Given the description of an element on the screen output the (x, y) to click on. 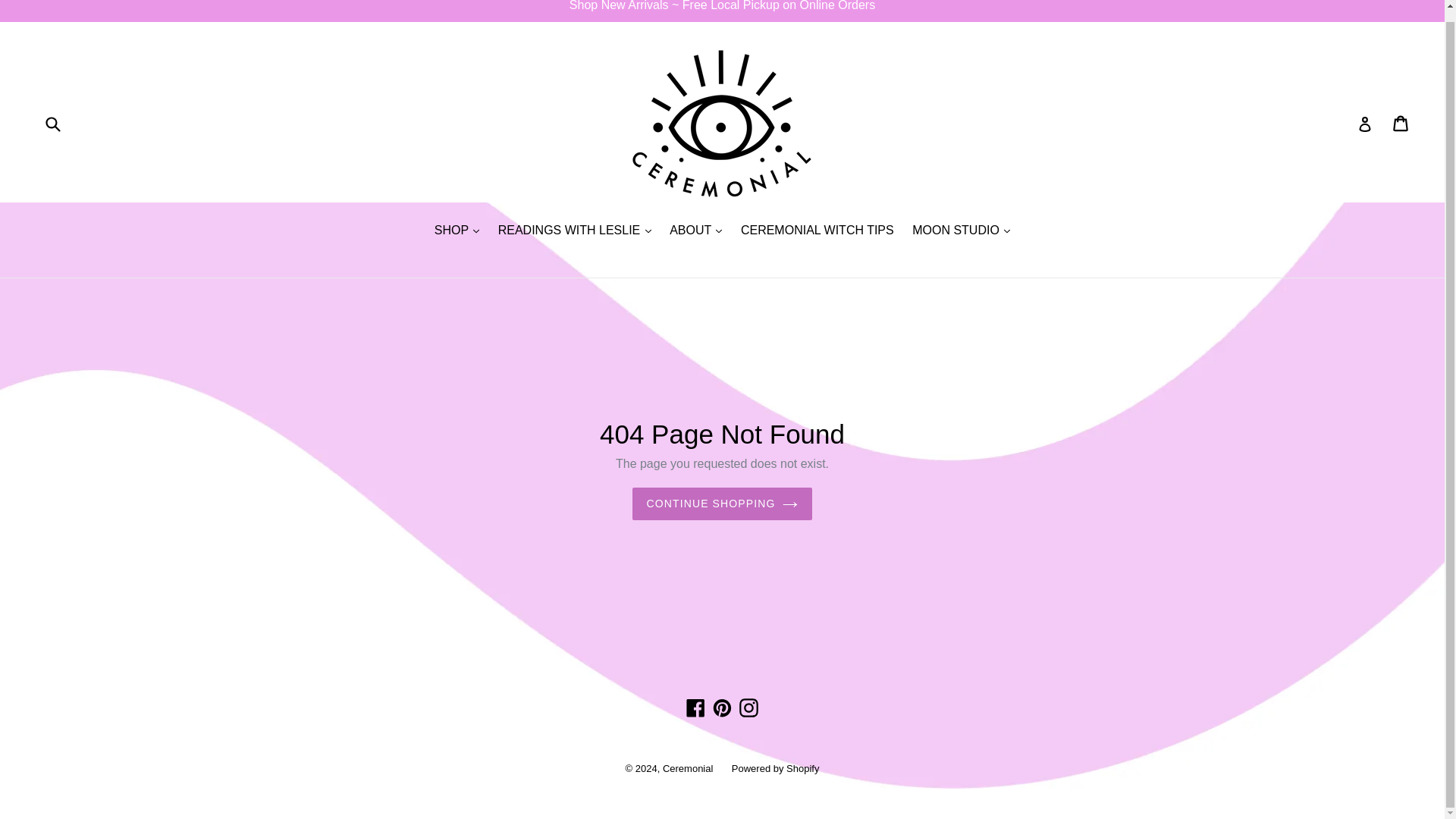
Ceremonial on Facebook (695, 707)
Ceremonial on Pinterest (721, 707)
Ceremonial on Instagram (748, 707)
